Given the description of an element on the screen output the (x, y) to click on. 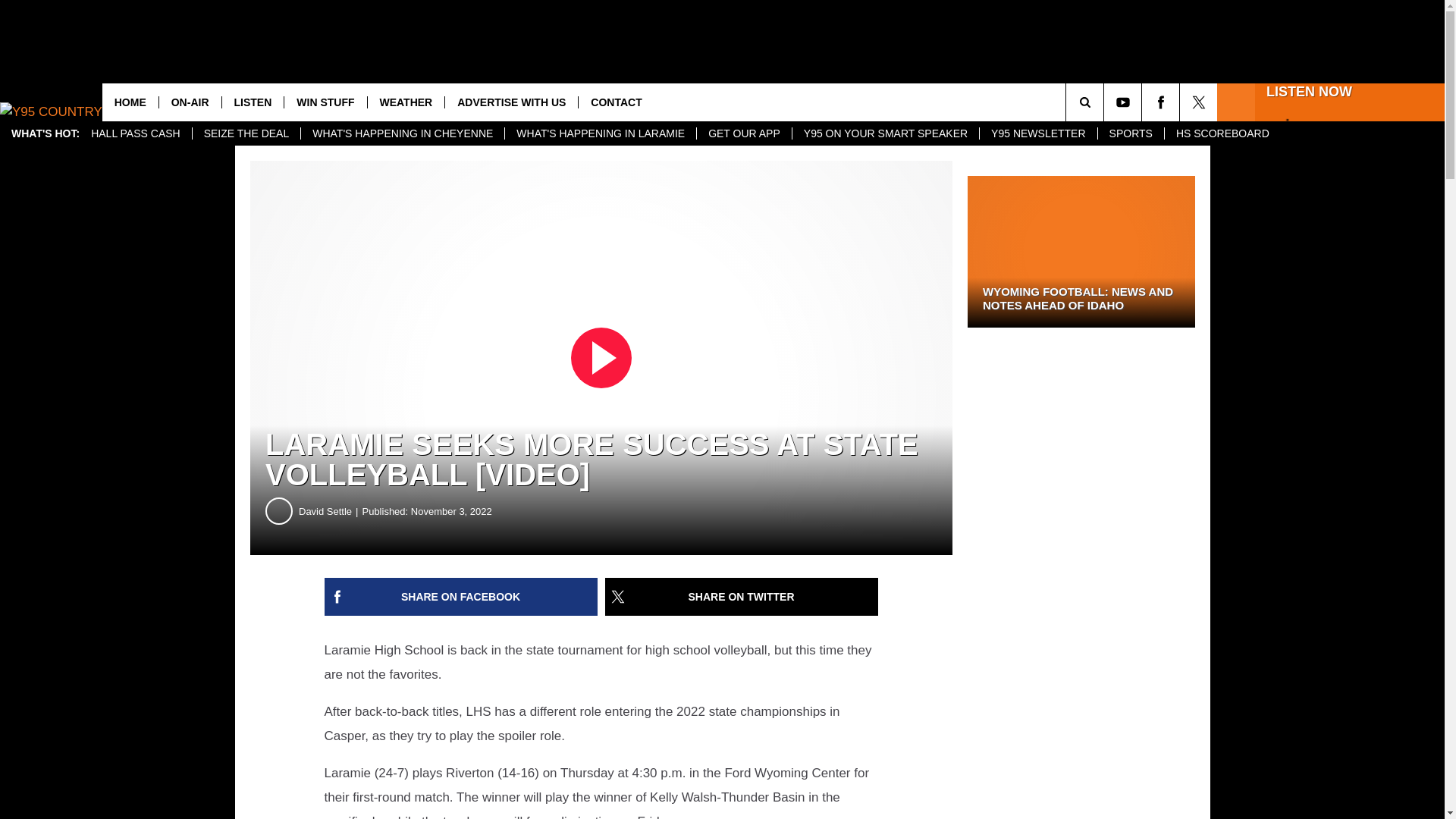
ON-AIR (189, 102)
HALL PASS CASH (136, 133)
WEATHER (405, 102)
Share on Facebook (460, 596)
Y95 ON YOUR SMART SPEAKER (885, 133)
WIN STUFF (324, 102)
WHAT'S HAPPENING IN LARAMIE (599, 133)
WHAT'S HAPPENING IN CHEYENNE (401, 133)
Y95 NEWSLETTER (1037, 133)
GET OUR APP (743, 133)
